Given the description of an element on the screen output the (x, y) to click on. 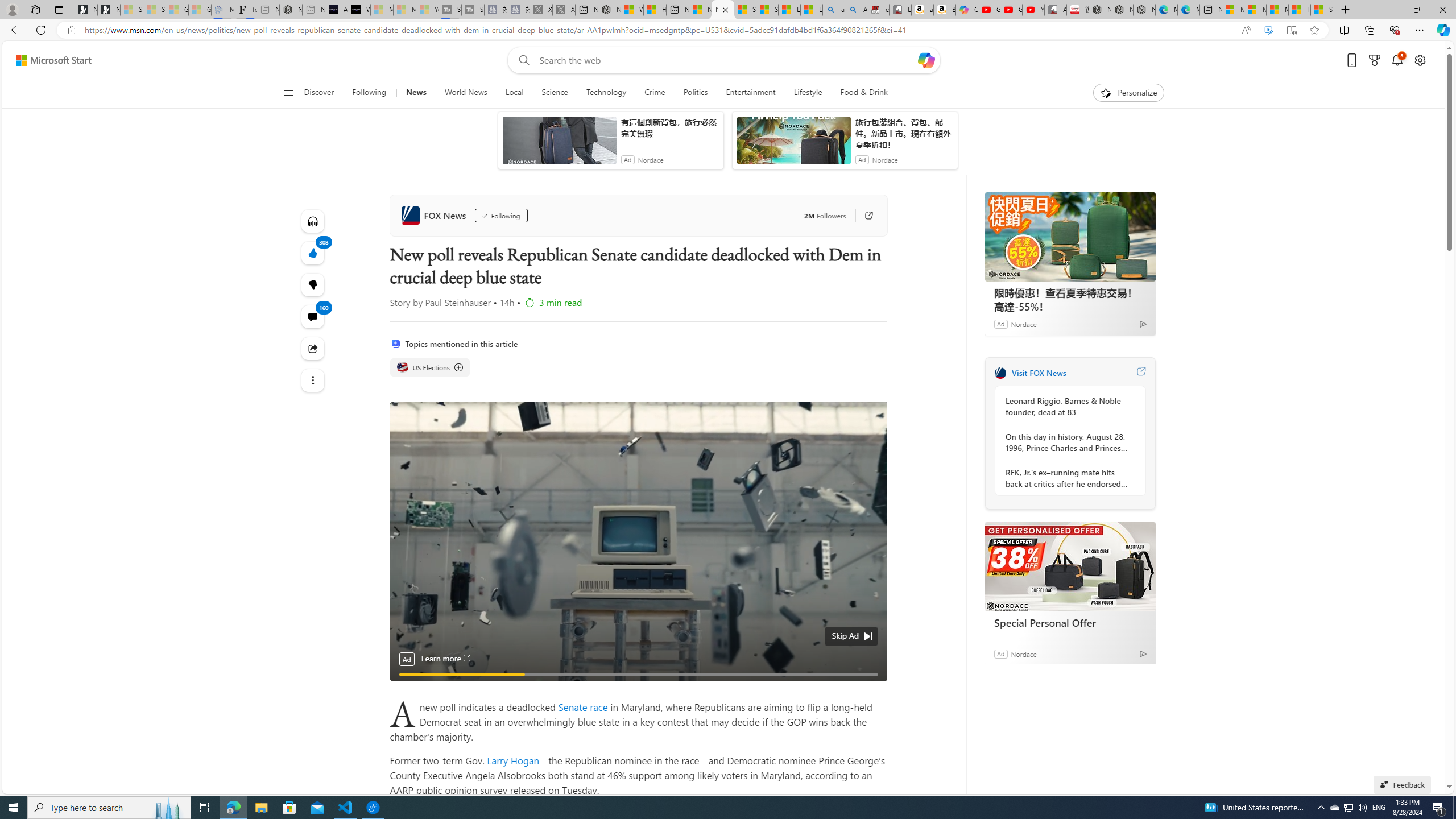
Politics (694, 92)
Lifestyle (807, 92)
Copilot (966, 9)
Senate race  (584, 706)
308 Like (312, 252)
Microsoft Start Sports - Sleeping (381, 9)
Nordace Comino Totepack (1099, 9)
Listen to this article (312, 221)
Visit FOX News website (1140, 372)
FOX News (1000, 372)
Gloom - YouTube (1010, 9)
Nordace - #1 Japanese Best-Seller - Siena Smart Backpack (291, 9)
